Given the description of an element on the screen output the (x, y) to click on. 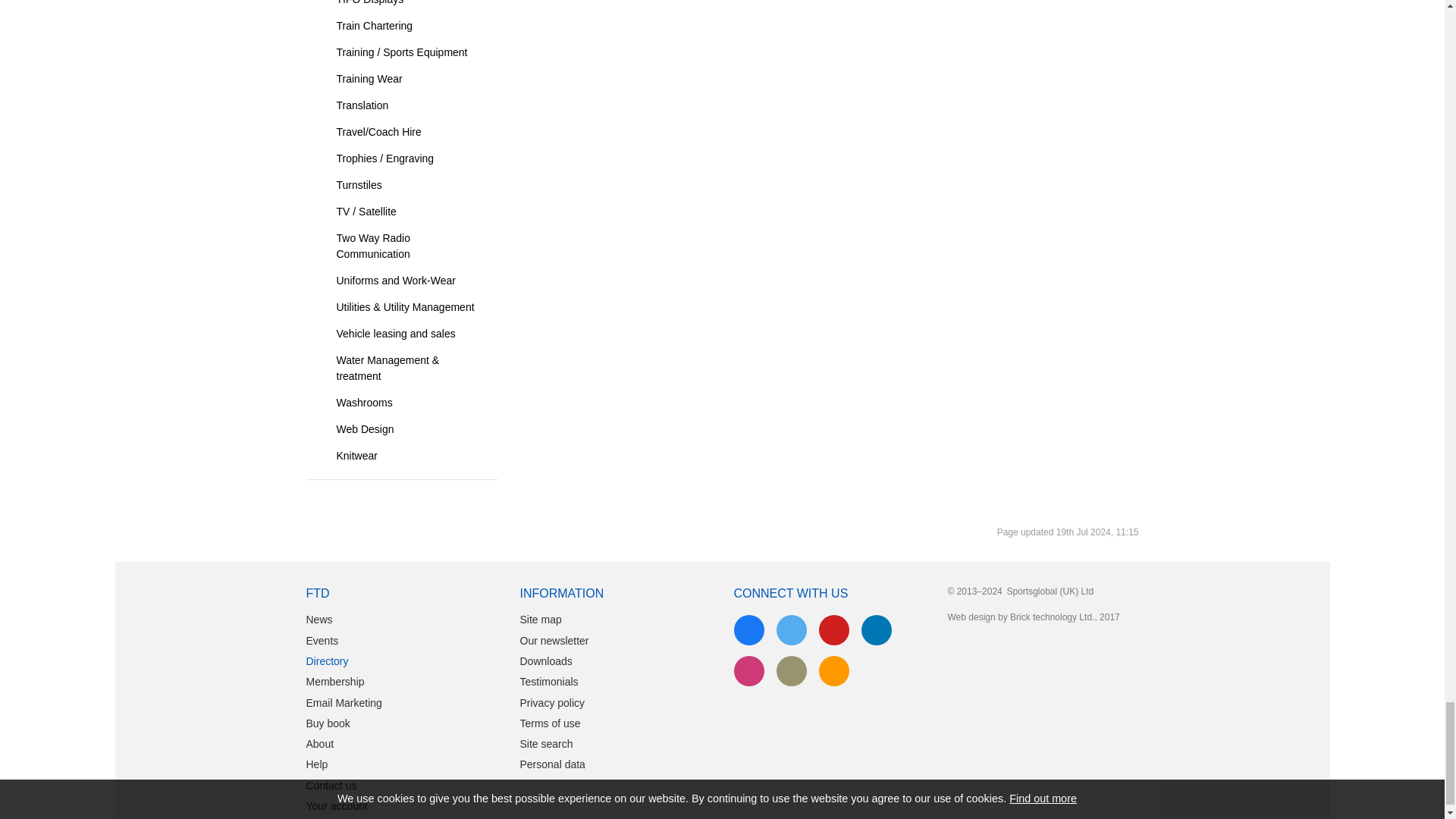
Facebook (749, 630)
YouTube (834, 630)
RSS (834, 671)
Website designed and maintained by Brick technology Ltd. (972, 634)
LinkedIn (877, 630)
Twitter (791, 630)
Newsletter (791, 671)
Instagram (749, 671)
